Given the description of an element on the screen output the (x, y) to click on. 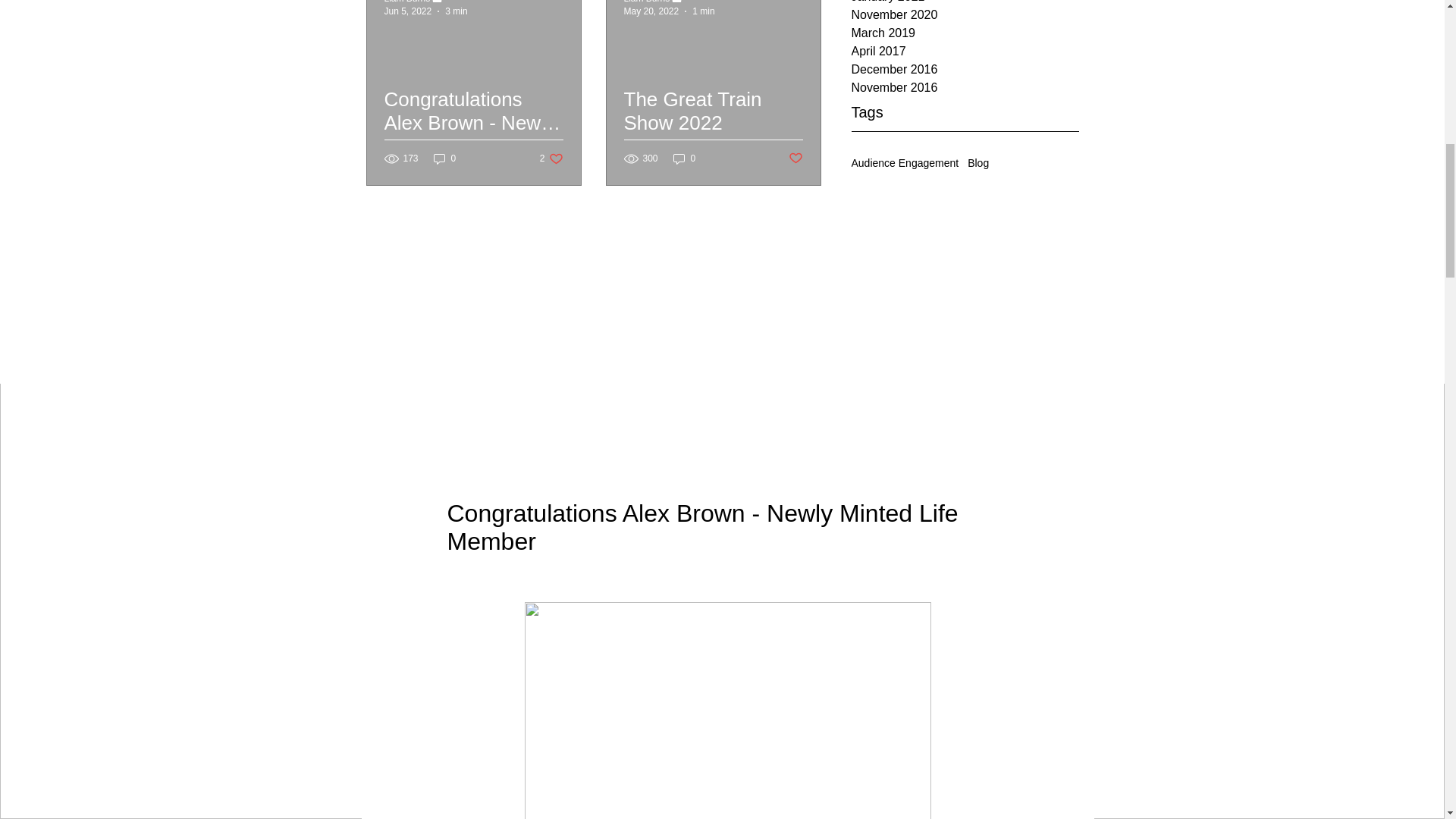
Jun 5, 2022 (407, 10)
November 2020 (964, 14)
January 2021 (964, 2)
April 2017 (964, 51)
Liam Burns (646, 2)
March 2019 (964, 33)
May 20, 2022 (650, 10)
Liam Burns (406, 2)
3 min (456, 10)
Blog (978, 162)
